Given the description of an element on the screen output the (x, y) to click on. 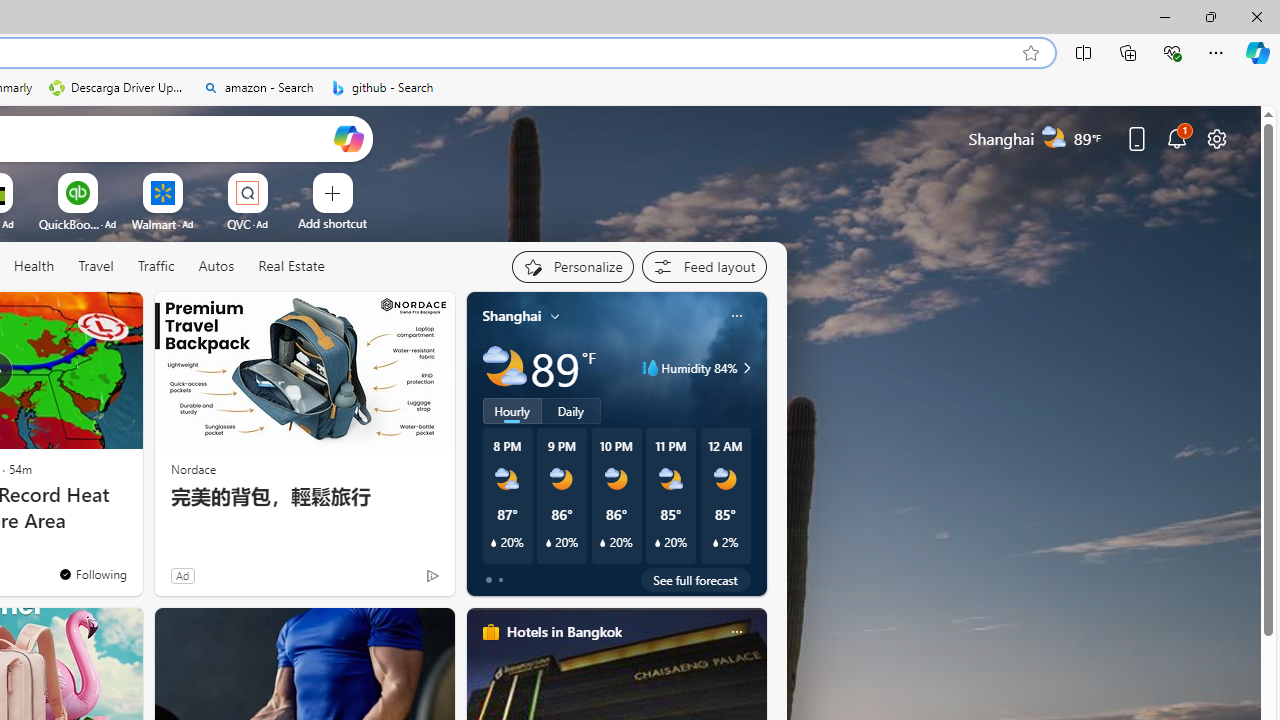
Open Copilot (347, 138)
Travel (95, 265)
Page settings (1216, 138)
tab-0 (488, 579)
Class: weather-arrow-glyph (746, 367)
Class: weather-current-precipitation-glyph (715, 543)
Ad (182, 575)
Feed settings (703, 266)
Hotels in Bangkok (563, 631)
